Given the description of an element on the screen output the (x, y) to click on. 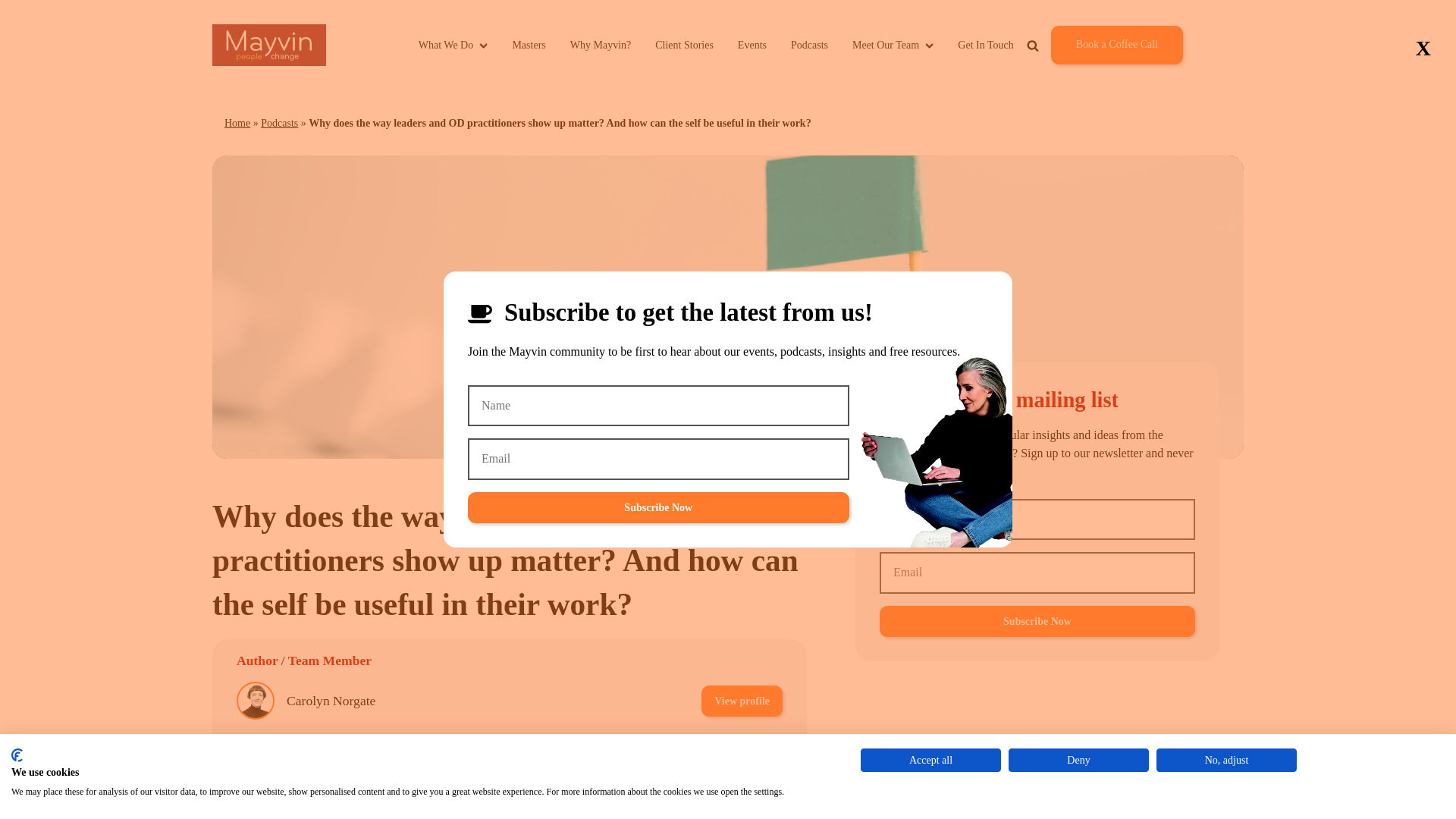
Client Stories (684, 45)
What We Do (453, 45)
Podcasts (279, 122)
Search (1078, 80)
Podcasts (809, 45)
View profile (742, 753)
Masters (528, 45)
Why Mayvin? (600, 45)
Organisation Development (513, 805)
Podcast (642, 805)
Events (752, 45)
Get In Touch (985, 45)
Carolyn Norgate (330, 700)
Meet Our Team (892, 45)
Martin Saville (324, 753)
